Given the description of an element on the screen output the (x, y) to click on. 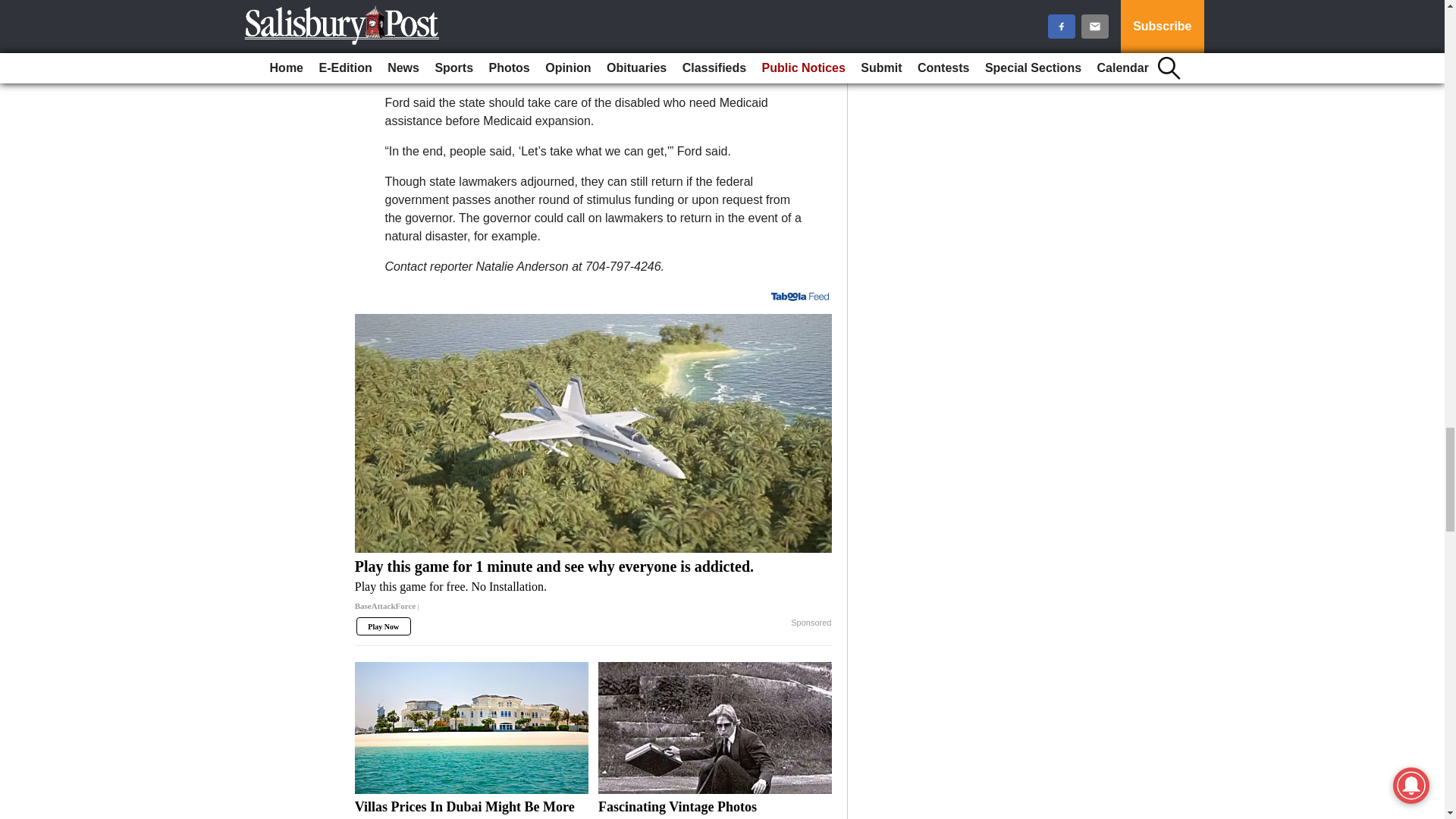
Fascinating Vintage Photos (714, 727)
Fascinating Vintage Photos (714, 808)
"Description: Play this game for free. No Installation." (593, 586)
